Given the description of an element on the screen output the (x, y) to click on. 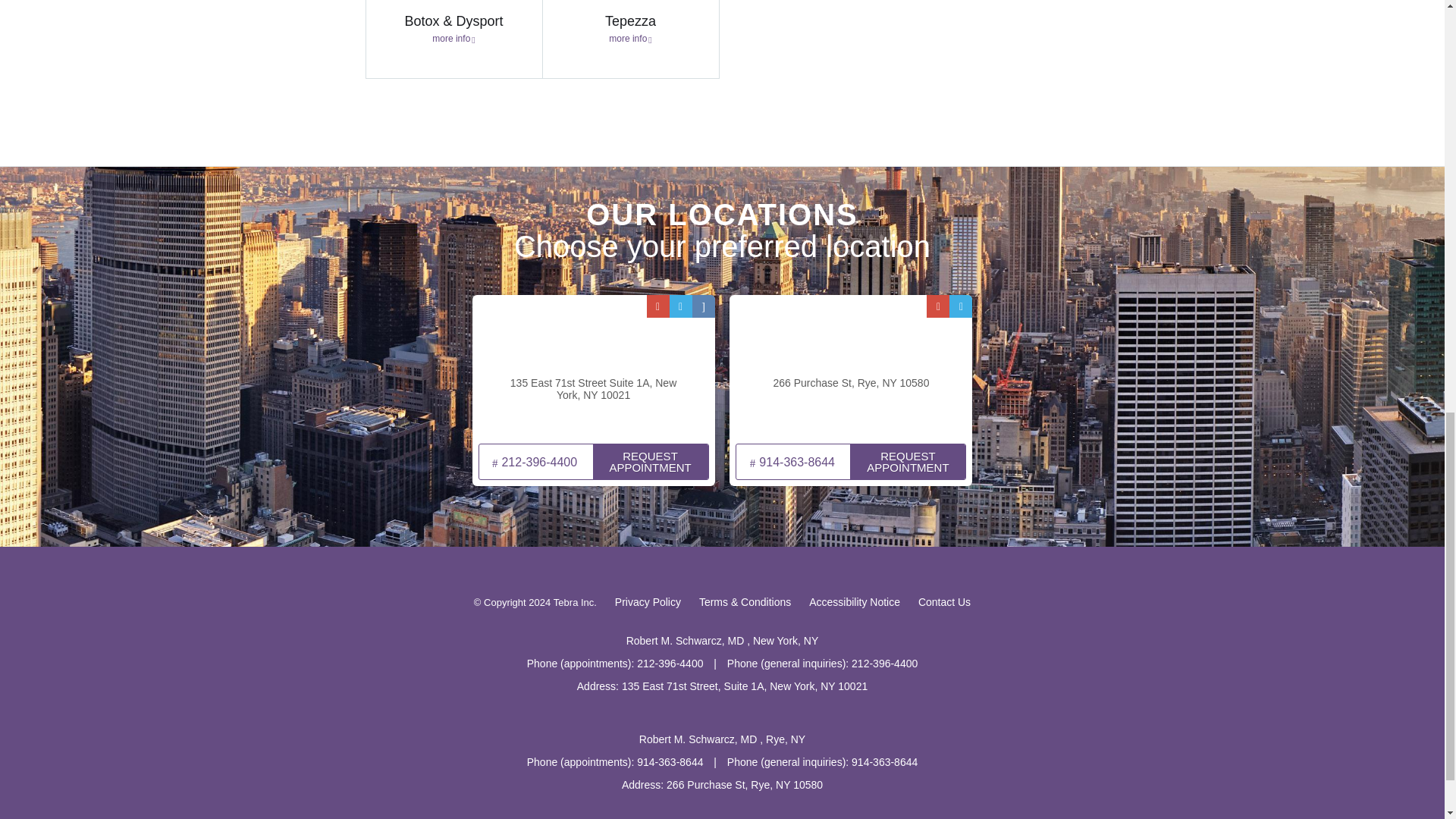
Map of Manhattan Office (592, 366)
Map of Rye (850, 366)
